Given the description of an element on the screen output the (x, y) to click on. 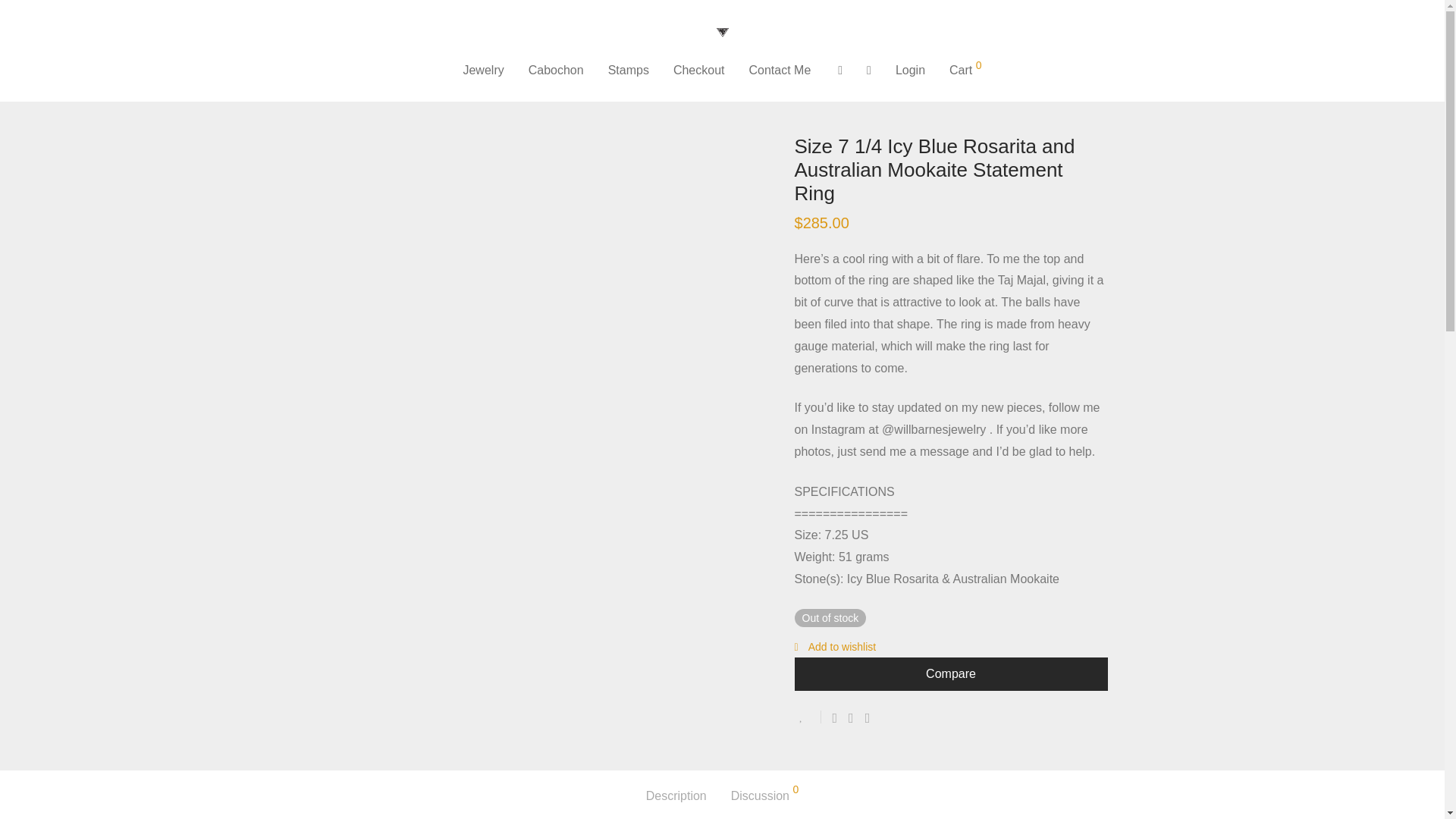
Description (676, 796)
Checkout (698, 70)
Compare (951, 674)
Cabochon (555, 70)
Cart 0 (964, 70)
Discussion 0 (764, 796)
Shop (271, 88)
Rings (360, 88)
Jewelry (315, 88)
Add to Wishlist (807, 716)
